Given the description of an element on the screen output the (x, y) to click on. 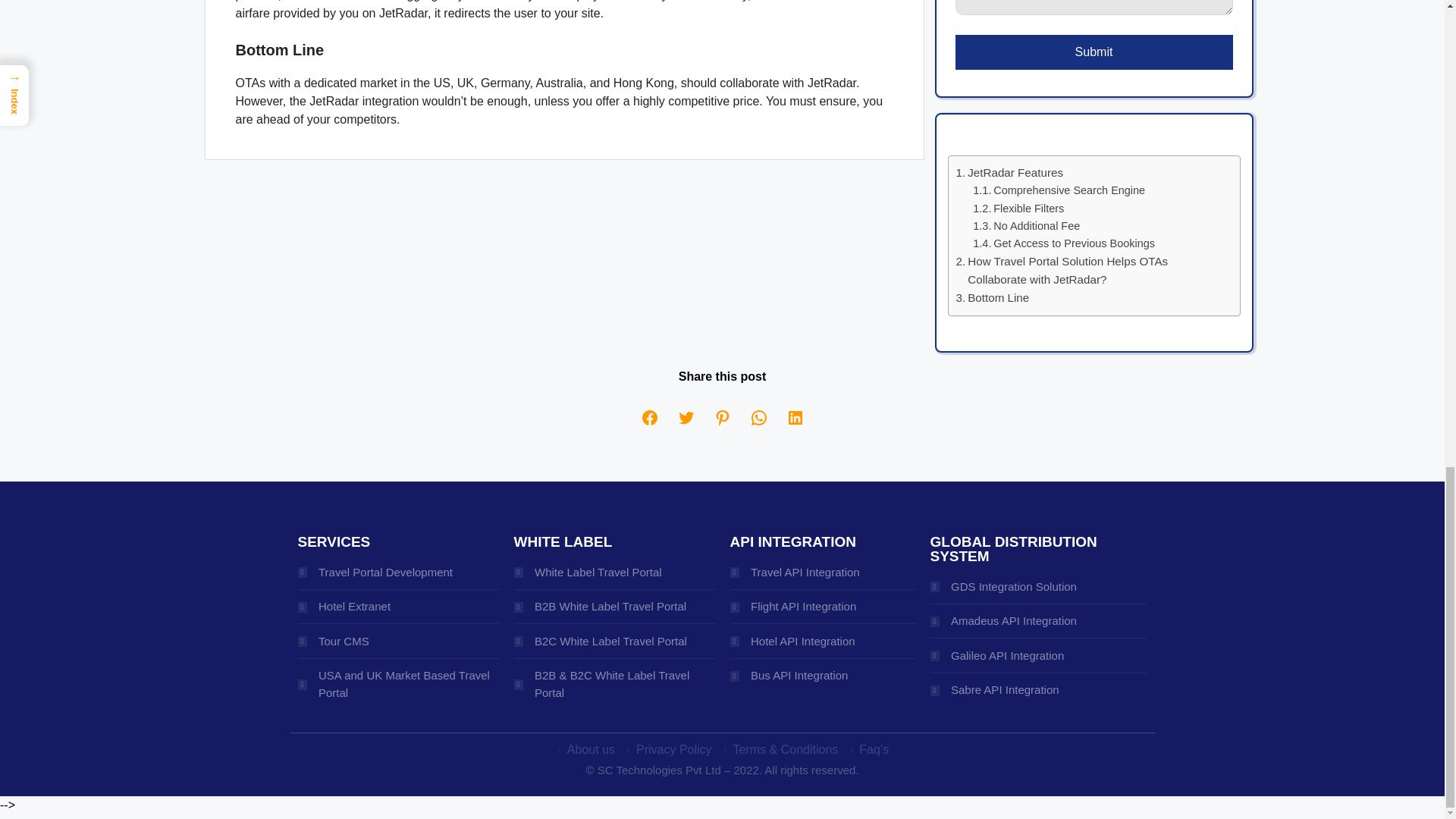
Submit (1094, 52)
Get Access to Previous Bookings (1063, 243)
Bottom Line (992, 298)
Scroll back to top (1406, 442)
JetRadar Features (1008, 172)
No Additional Fee (1026, 226)
Comprehensive Search Engine (1058, 190)
Flexible Filters (1018, 208)
